Given the description of an element on the screen output the (x, y) to click on. 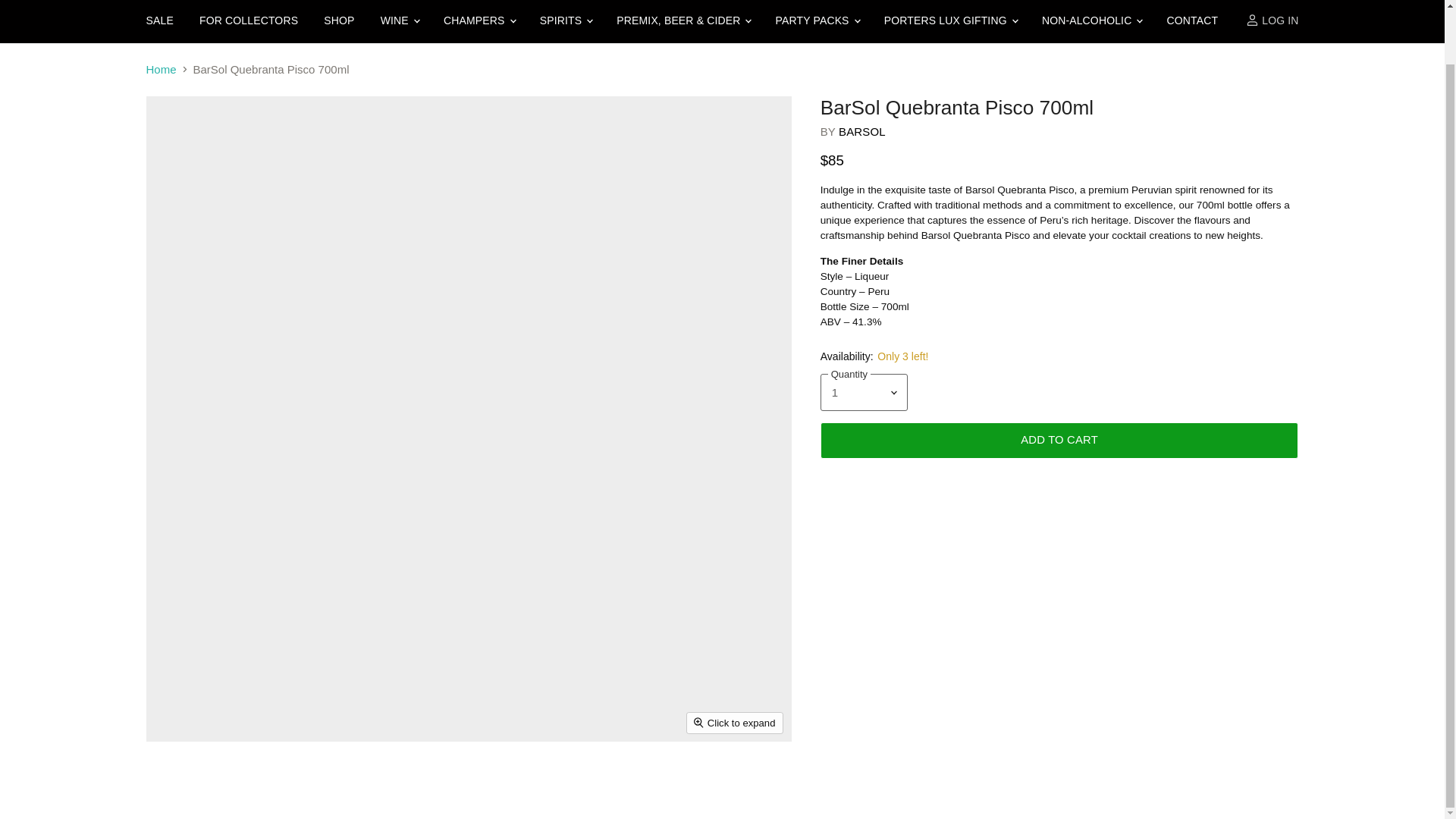
Facebook (183, 570)
E-mail (156, 570)
Instagram (210, 570)
Email (191, 514)
TikTok (292, 570)
LinkedIn (237, 570)
Pinterest (265, 570)
www.porterslux.com.au (192, 535)
